Given the description of an element on the screen output the (x, y) to click on. 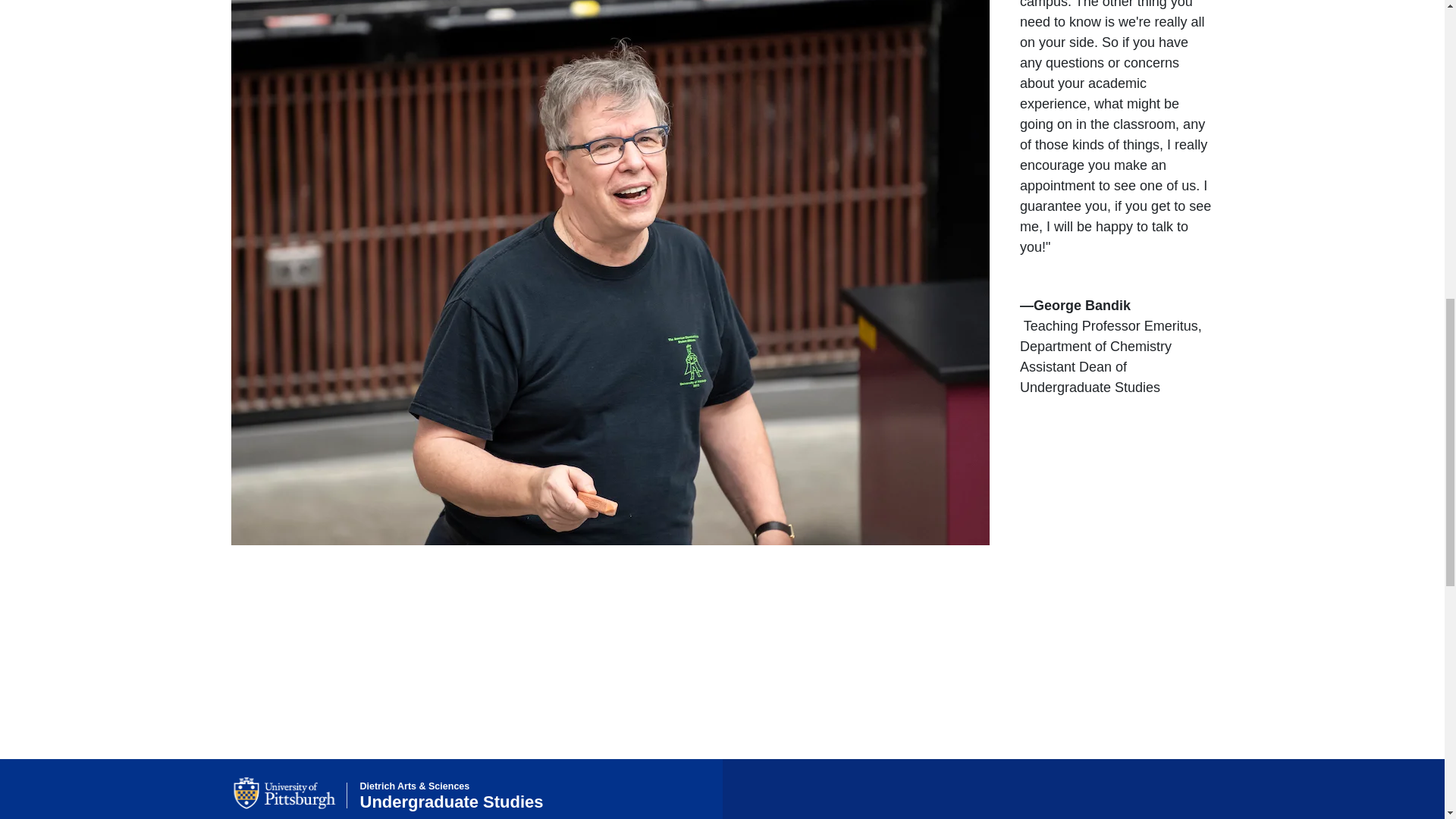
Home (451, 796)
Pitt Home (289, 793)
